Given the description of an element on the screen output the (x, y) to click on. 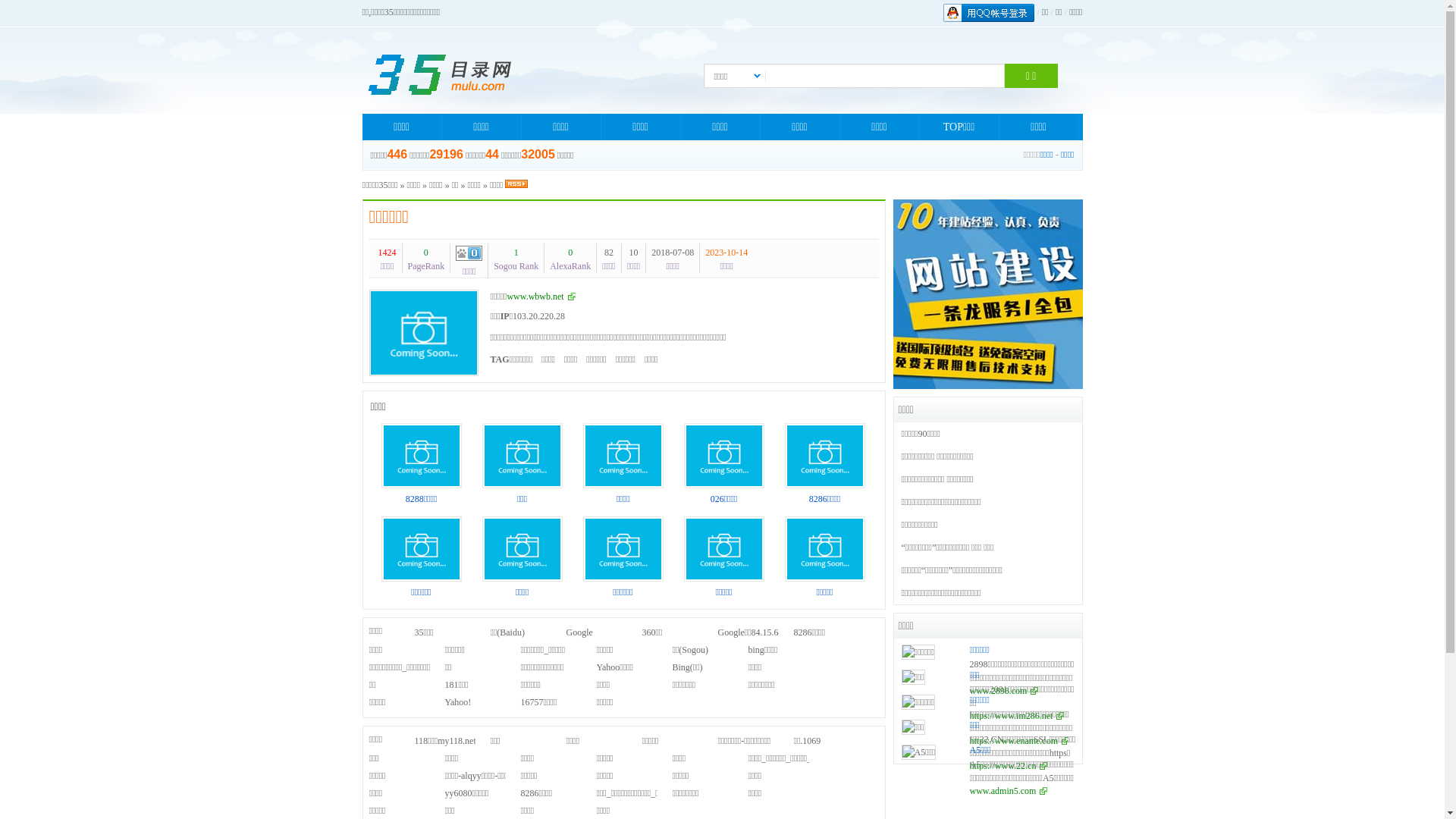
Yahoo! Element type: text (457, 701)
www.2898.com Element type: text (1003, 690)
https://www.im286.net Element type: text (1016, 715)
https://www.22.cn Element type: text (1008, 765)
www.admin5.com Element type: text (1008, 790)
www.wbwb.net Element type: text (540, 296)
https://www.ename.com Element type: text (1019, 740)
Google Element type: text (578, 632)
